Given the description of an element on the screen output the (x, y) to click on. 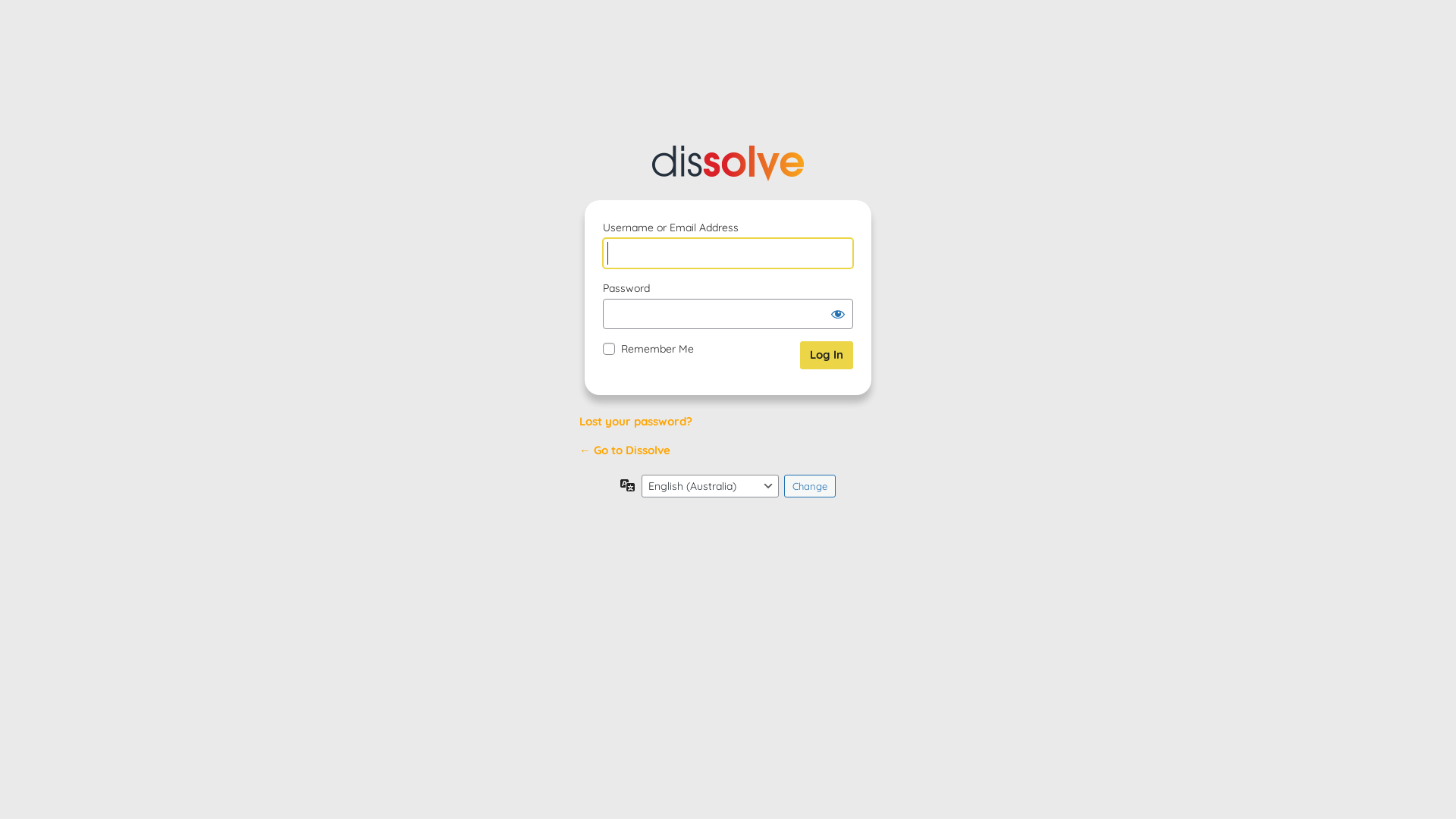
Lost your password? Element type: text (635, 421)
Log In Element type: text (826, 355)
Dissolve Element type: text (727, 163)
Change Element type: text (809, 485)
